Given the description of an element on the screen output the (x, y) to click on. 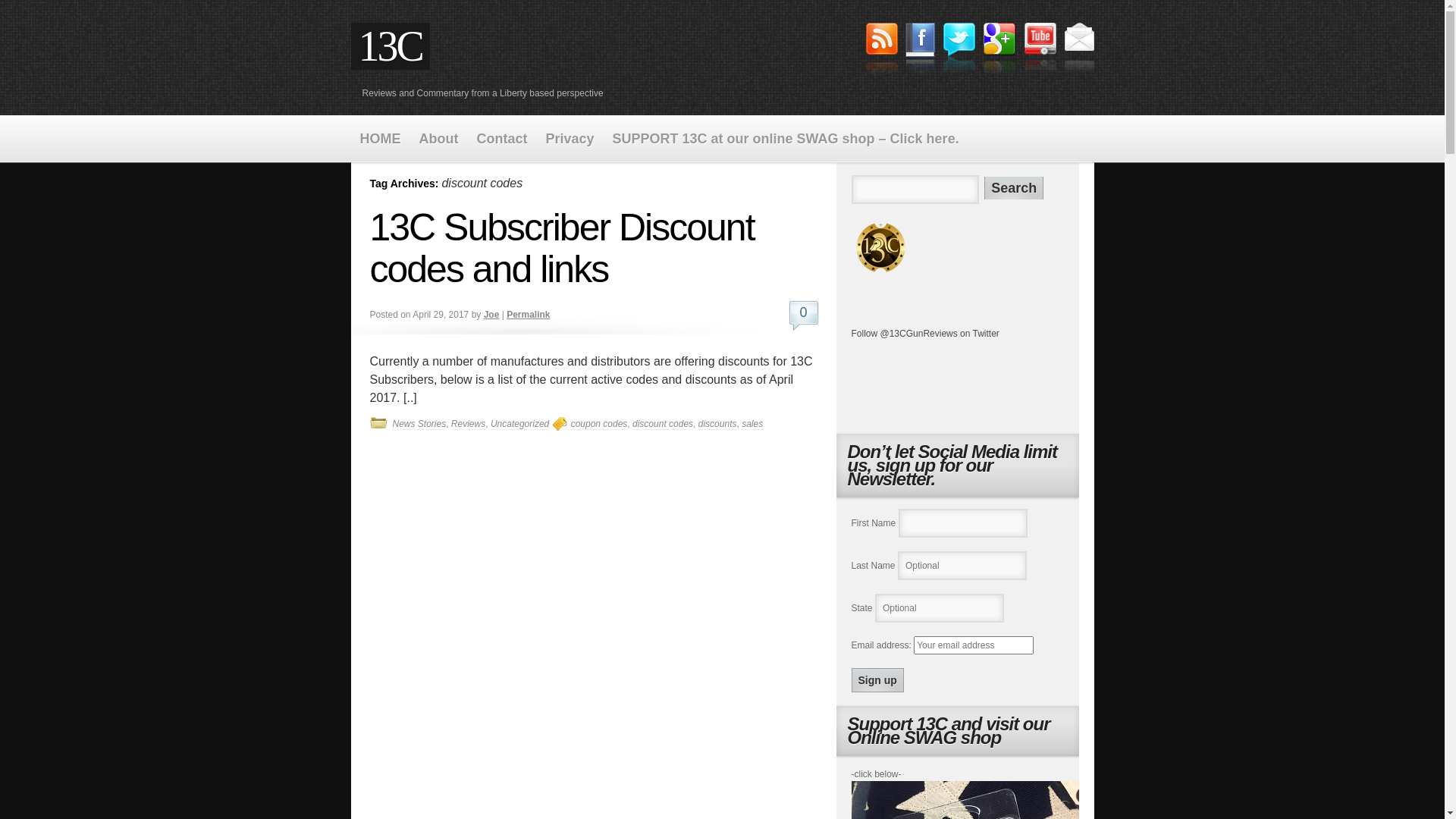
Google+ Element type: hover (999, 50)
13C Subscriber Discount codes and links Element type: text (562, 248)
Joe Element type: text (491, 314)
YouTube Element type: hover (1039, 49)
Facebook Element type: hover (920, 50)
Newsletter Element type: hover (1078, 49)
13C Element type: text (389, 45)
RSS Feed Element type: hover (881, 50)
coupon codes Element type: text (599, 423)
sales Element type: text (751, 423)
Contact Element type: text (501, 138)
Uncategorized Element type: text (519, 423)
News Stories Element type: text (419, 423)
About Element type: text (438, 138)
Follow @13CGunReviews on Twitter Element type: text (924, 333)
Privacy Element type: text (569, 138)
0 Element type: text (803, 315)
Sign up Element type: text (876, 680)
13C Element type: hover (879, 246)
Search Element type: text (1013, 187)
Permalink Element type: text (527, 314)
discounts Element type: text (717, 423)
Twitter Element type: hover (959, 49)
HOME Element type: text (379, 138)
discount codes Element type: text (662, 423)
Reviews Element type: text (468, 423)
